Given the description of an element on the screen output the (x, y) to click on. 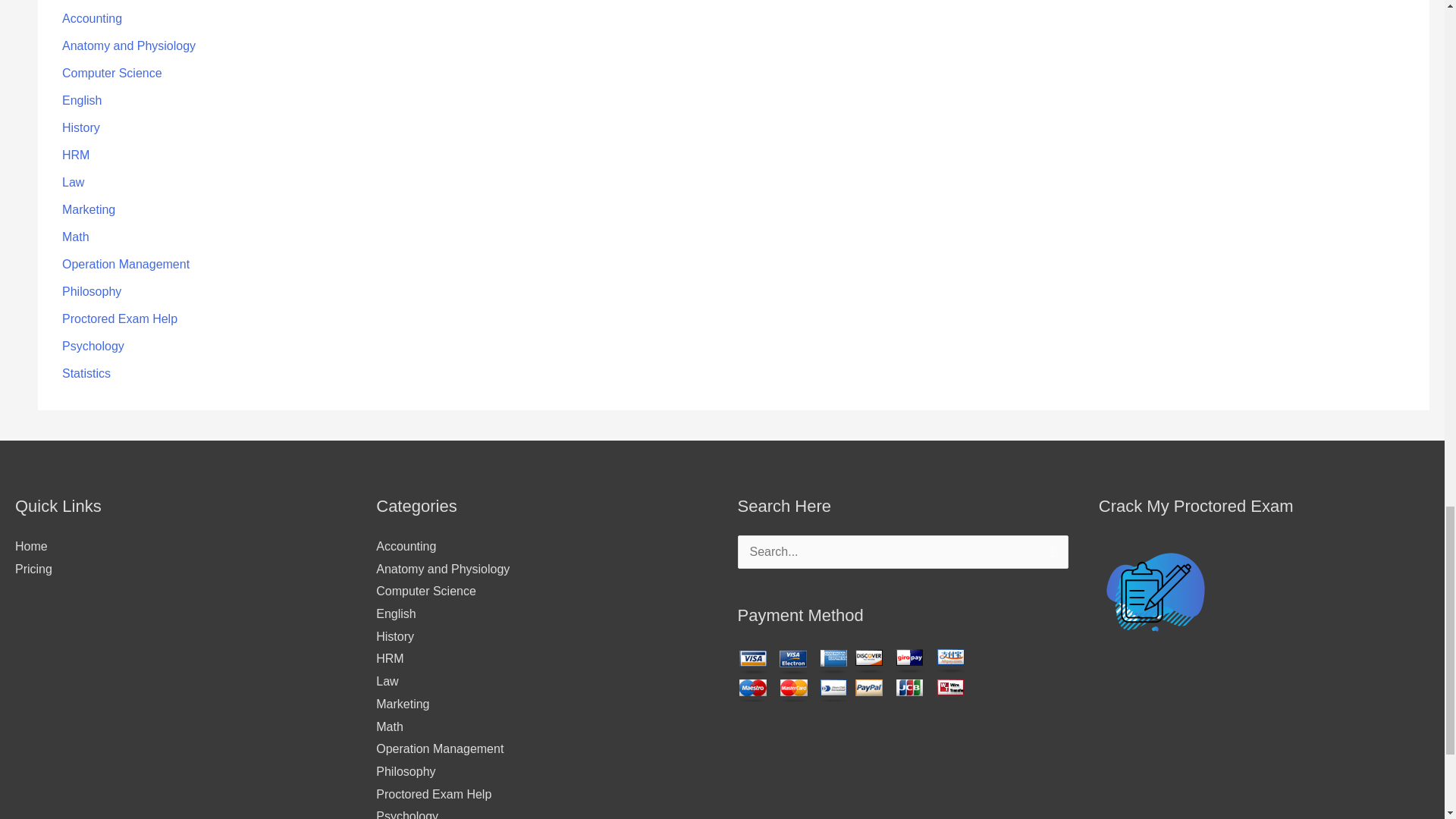
Math (75, 236)
Philosophy (91, 291)
Marketing (88, 209)
Operation Management (125, 264)
English (81, 100)
HRM (75, 154)
Statistics (86, 373)
Law (73, 182)
History (81, 127)
Computer Science (111, 72)
Psychology (92, 345)
Accounting (92, 18)
Proctored Exam Help (119, 318)
Anatomy and Physiology (128, 45)
Home (31, 545)
